Given the description of an element on the screen output the (x, y) to click on. 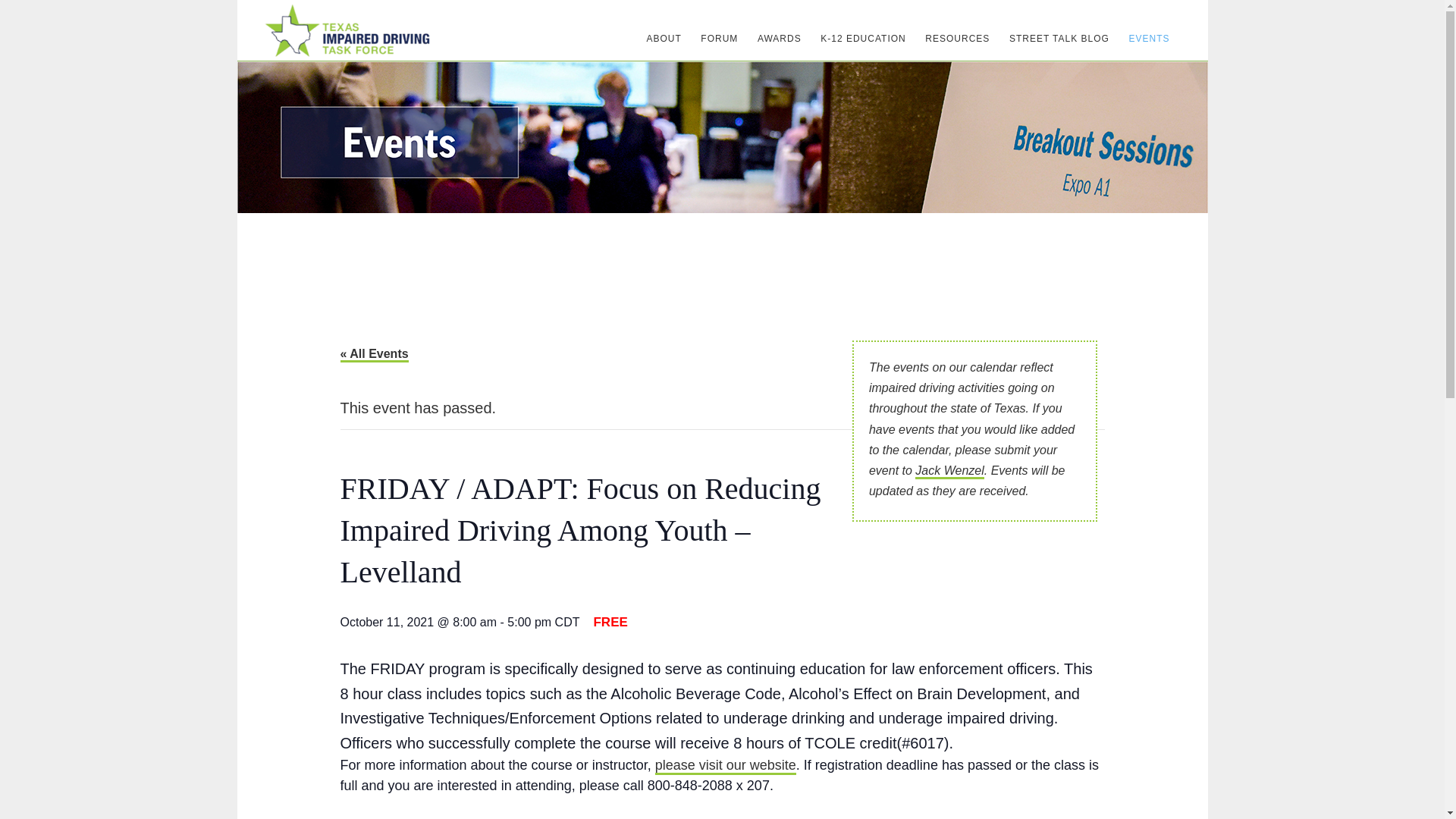
RESOURCES (957, 38)
EVENTS (1148, 38)
AWARDS (779, 38)
please visit our website (725, 765)
FORUM (719, 38)
Jack Wenzel (949, 471)
STREET TALK BLOG (1058, 38)
ABOUT (663, 38)
TEXAS IMPAIRED DRIVING TASK FORCE (346, 30)
K-12 EDUCATION (862, 38)
